Given the description of an element on the screen output the (x, y) to click on. 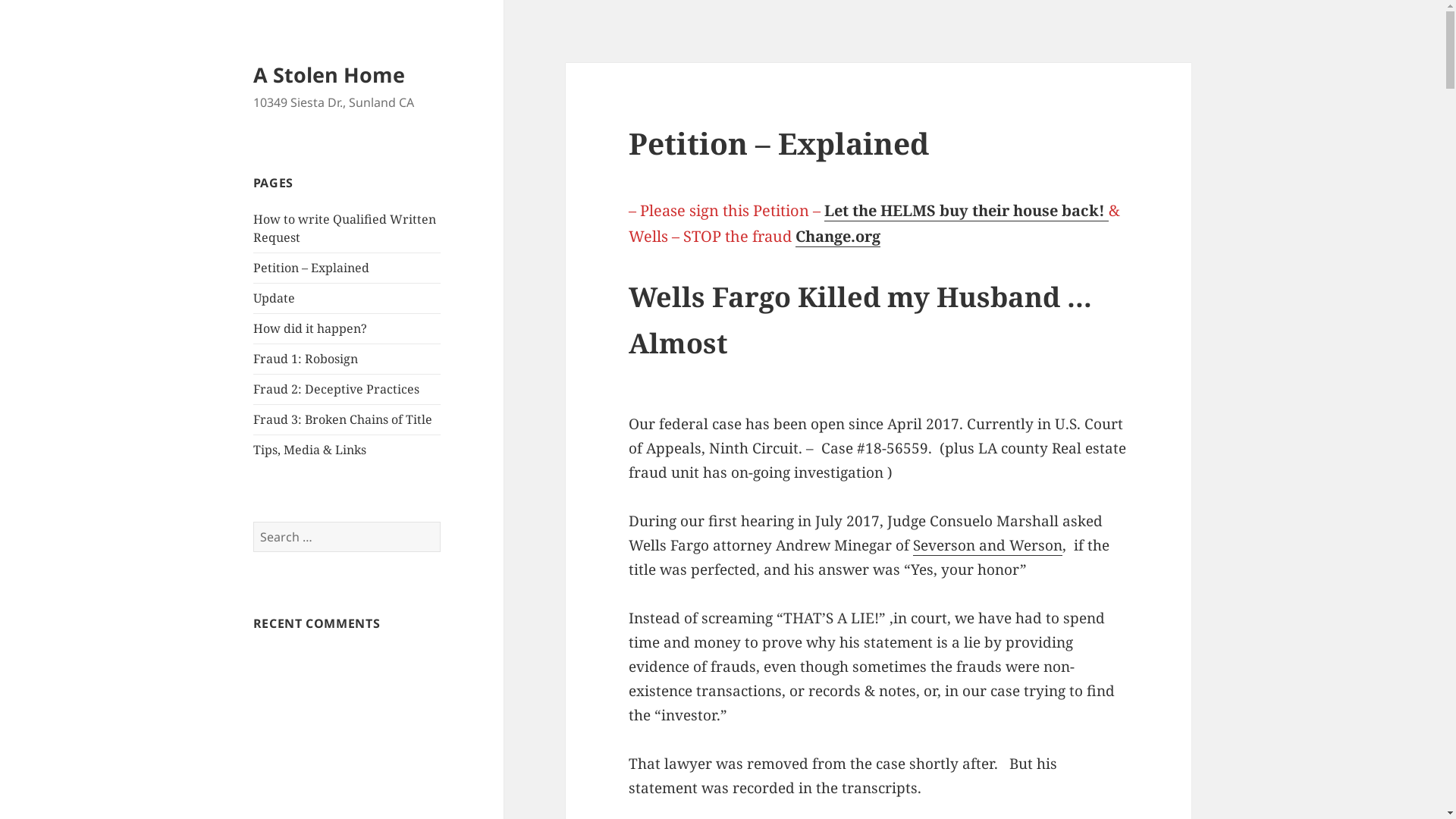
Update Element type: text (273, 297)
Let the HELMS buy their house back! Element type: text (966, 210)
How did it happen? Element type: text (310, 328)
Search Element type: text (439, 520)
Change.org Element type: text (837, 236)
Fraud 2: Deceptive Practices Element type: text (336, 388)
How to write Qualified Written Request Element type: text (344, 227)
Fraud 3: Broken Chains of Title Element type: text (342, 419)
A Stolen Home Element type: text (328, 74)
Severson and Werson Element type: text (987, 545)
Fraud 1: Robosign Element type: text (305, 358)
Tips, Media & Links Element type: text (309, 449)
